Given the description of an element on the screen output the (x, y) to click on. 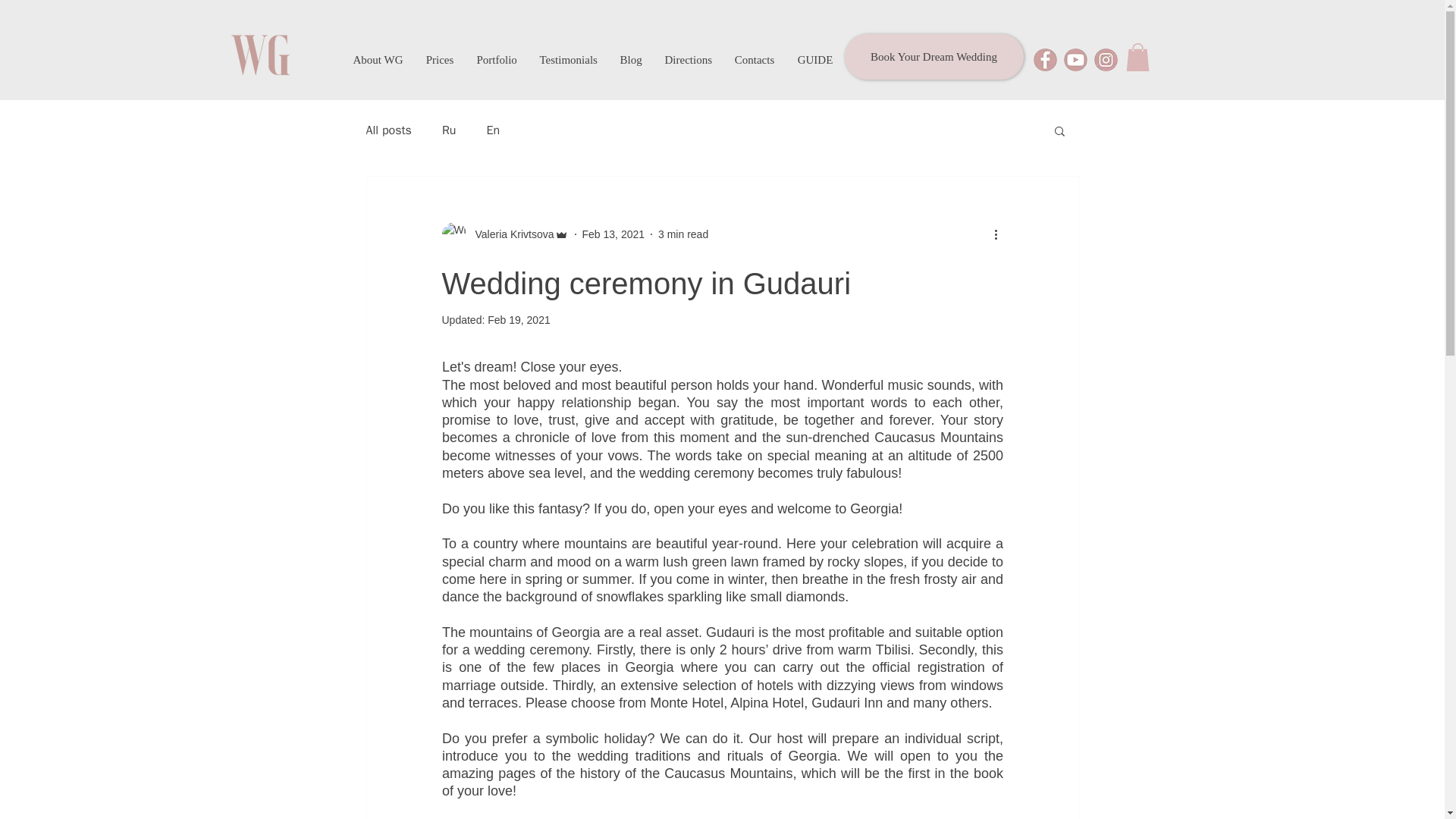
About WG (376, 59)
Contacts (754, 59)
Blog (630, 59)
3 min read (682, 234)
Portfolio (496, 59)
Valeria Krivtsova (504, 233)
Feb 13, 2021 (613, 234)
Ru (449, 130)
Valeria Krivtsova (509, 234)
Testimonials (567, 59)
